Given the description of an element on the screen output the (x, y) to click on. 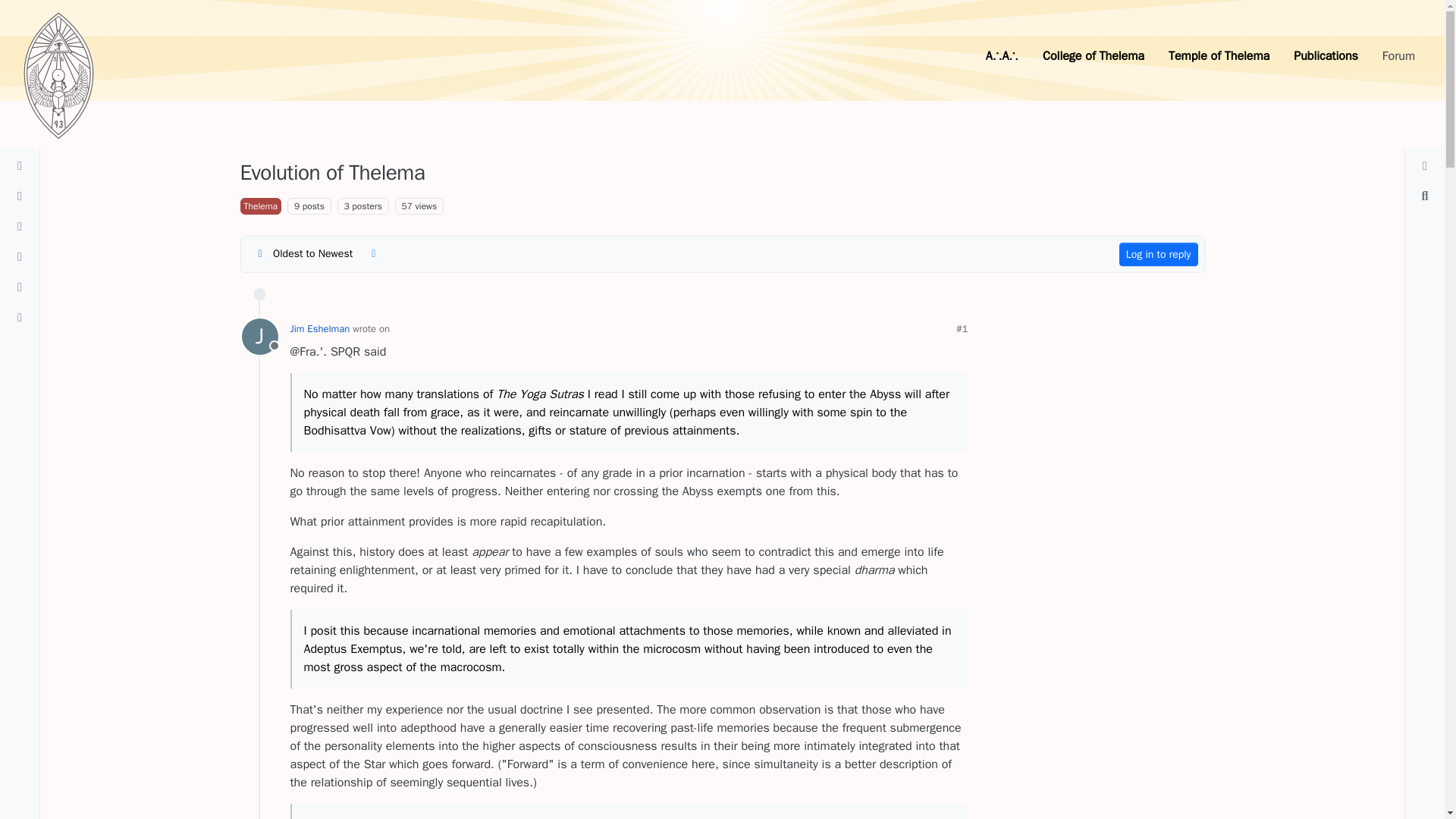
Recent (19, 196)
Tags (19, 226)
College of Thelema (1093, 55)
Groups (19, 317)
Publications (259, 336)
Log in to reply (1325, 55)
Oldest to Newest (1158, 254)
Users (303, 253)
Popular (19, 287)
